Given the description of an element on the screen output the (x, y) to click on. 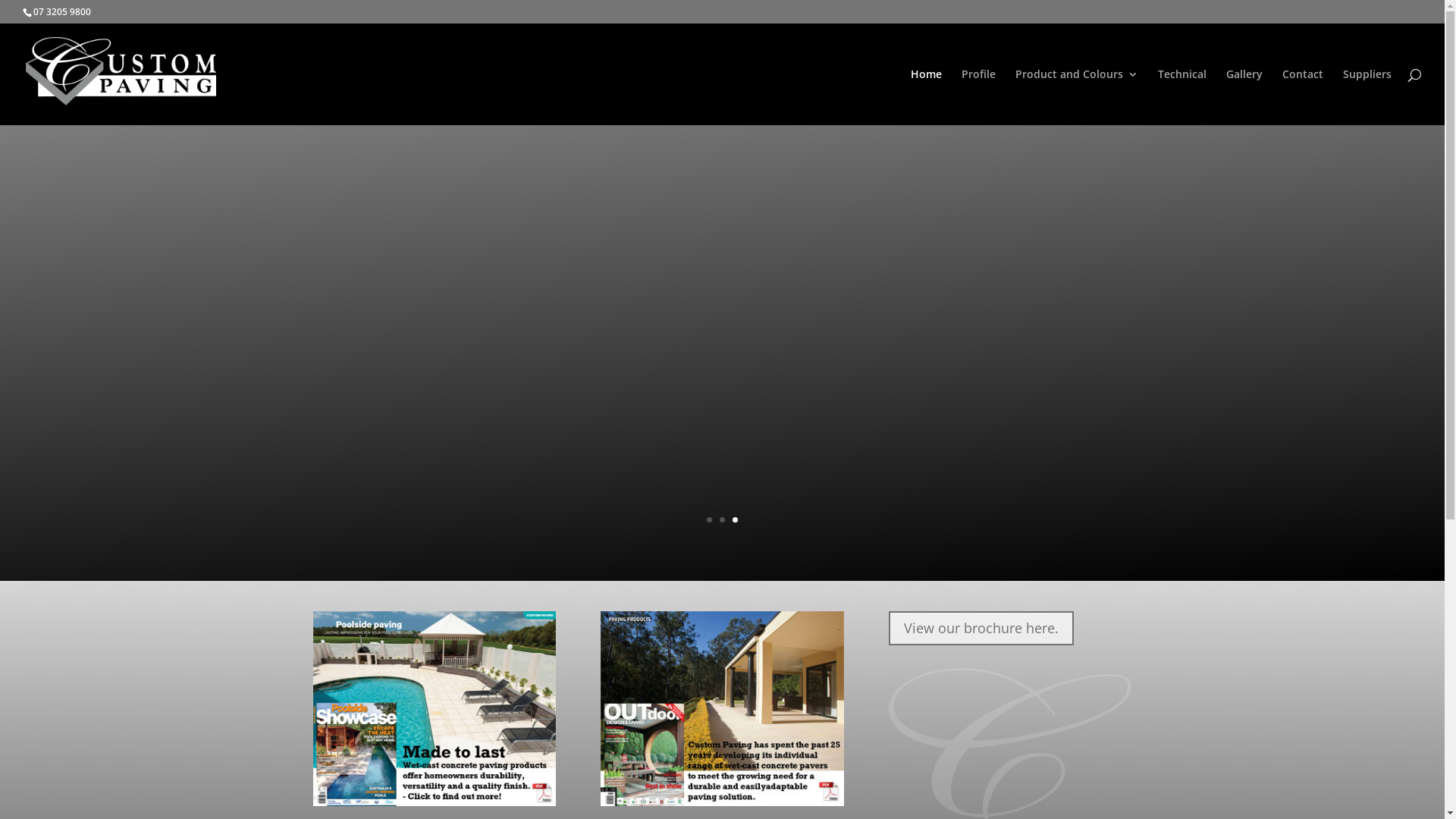
Contact Element type: text (1302, 97)
Home Element type: text (925, 97)
Gallery Element type: text (1244, 97)
Suppliers Element type: text (1367, 97)
2 Element type: text (721, 519)
1 Element type: text (709, 519)
3 Element type: text (734, 519)
Profile Element type: text (978, 97)
View our brochure here. Element type: text (980, 628)
Product and Colours Element type: text (1076, 97)
Technical Element type: text (1181, 97)
07 3205 9800 Element type: text (62, 11)
